Given the description of an element on the screen output the (x, y) to click on. 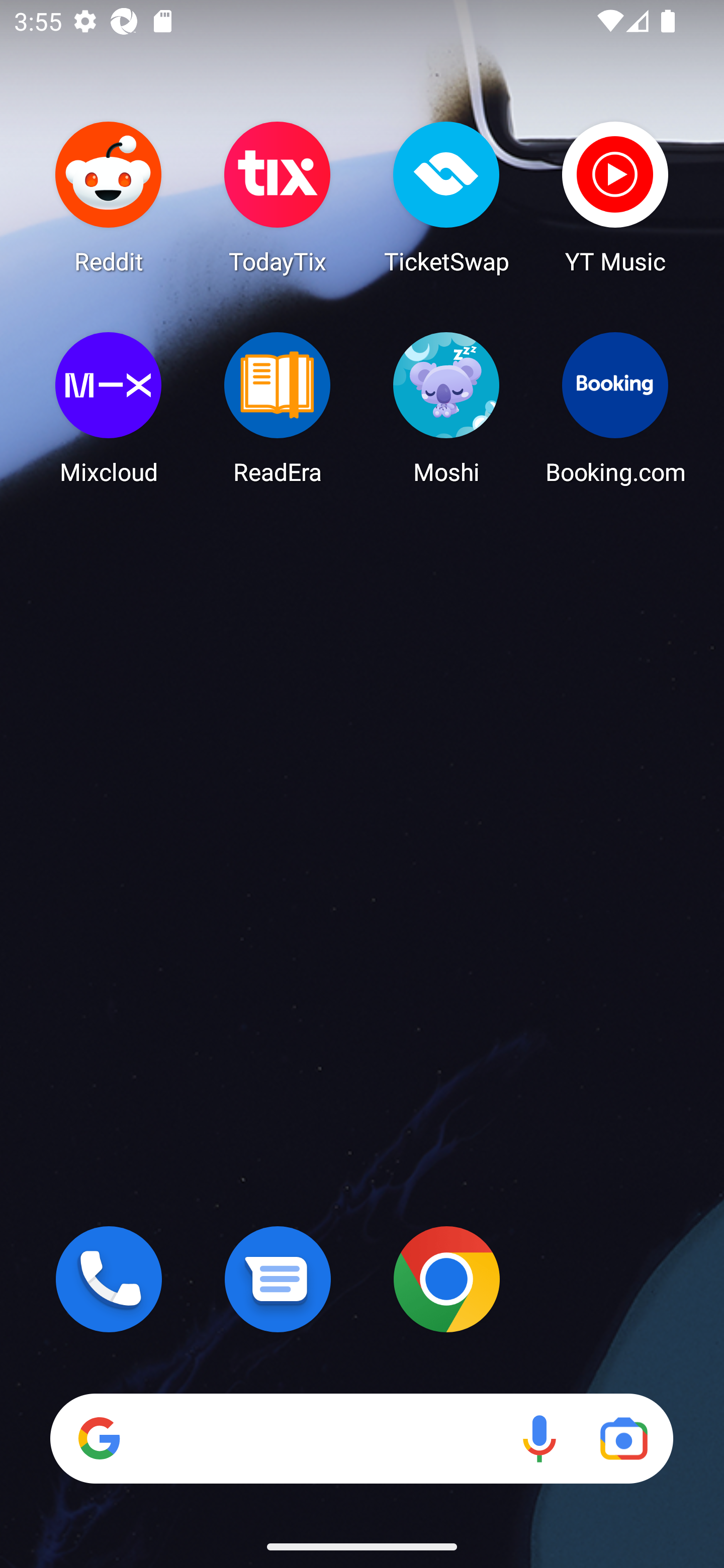
Reddit (108, 196)
TodayTix (277, 196)
TicketSwap (445, 196)
YT Music (615, 196)
Mixcloud (108, 407)
ReadEra (277, 407)
Moshi (445, 407)
Booking.com (615, 407)
Phone (108, 1279)
Messages (277, 1279)
Chrome (446, 1279)
Search Voice search Google Lens (361, 1438)
Voice search (539, 1438)
Google Lens (623, 1438)
